Given the description of an element on the screen output the (x, y) to click on. 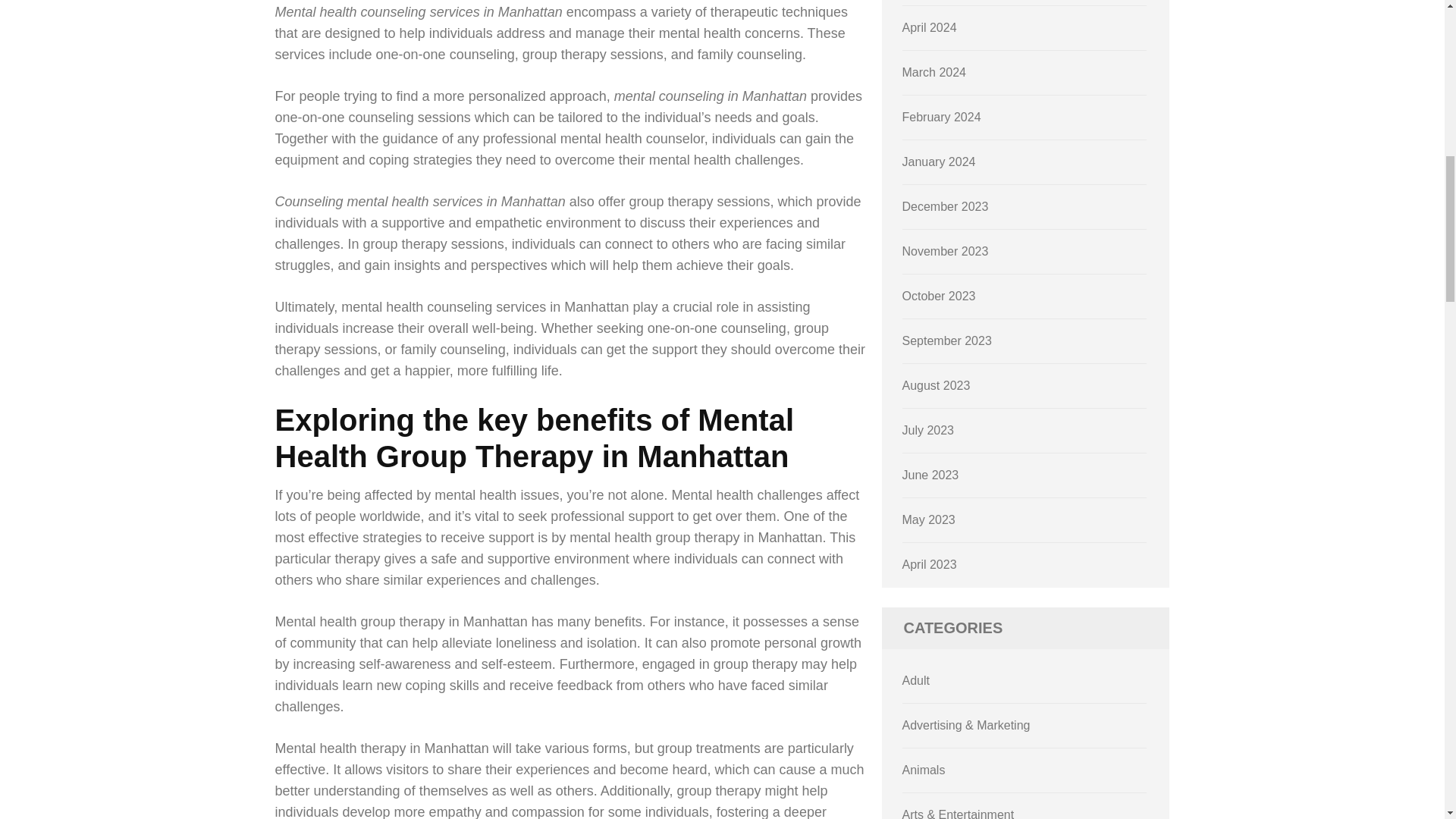
February 2024 (941, 116)
November 2023 (945, 250)
January 2024 (938, 161)
Animals (923, 769)
October 2023 (938, 295)
July 2023 (928, 430)
April 2023 (929, 563)
Adult (916, 680)
June 2023 (930, 474)
September 2023 (946, 340)
April 2024 (929, 27)
May 2023 (928, 519)
August 2023 (936, 385)
March 2024 (934, 72)
December 2023 (945, 205)
